Given the description of an element on the screen output the (x, y) to click on. 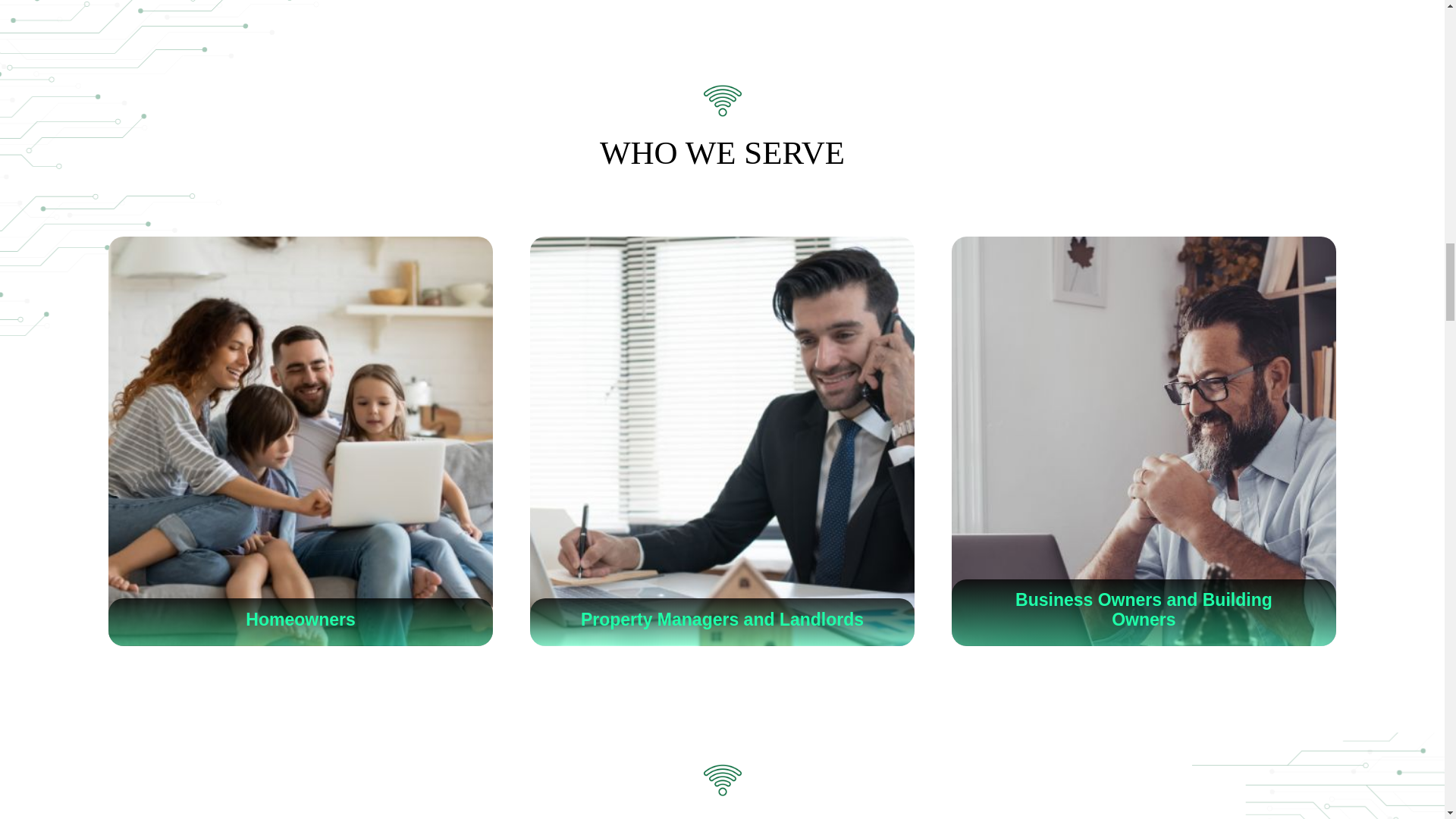
ico-wifi (722, 100)
ico-wifi (722, 780)
